Given the description of an element on the screen output the (x, y) to click on. 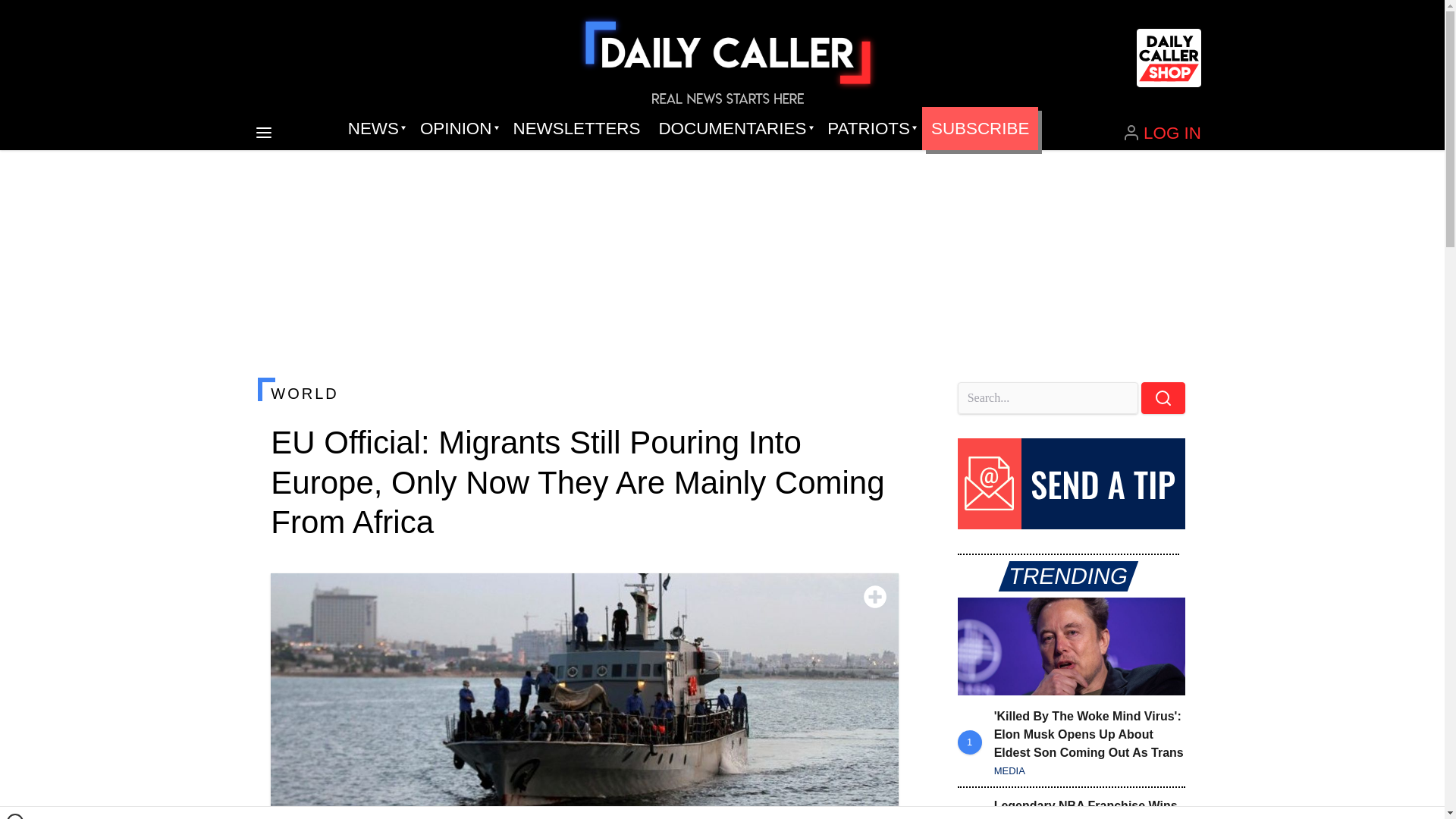
OPINION (456, 128)
NEWS (374, 128)
PATRIOTS (869, 128)
NEWSLETTERS (576, 128)
Toggle fullscreen (874, 596)
Close window (14, 816)
SUBSCRIBE (979, 128)
DOCUMENTARIES (733, 128)
WORLD (584, 393)
